Given the description of an element on the screen output the (x, y) to click on. 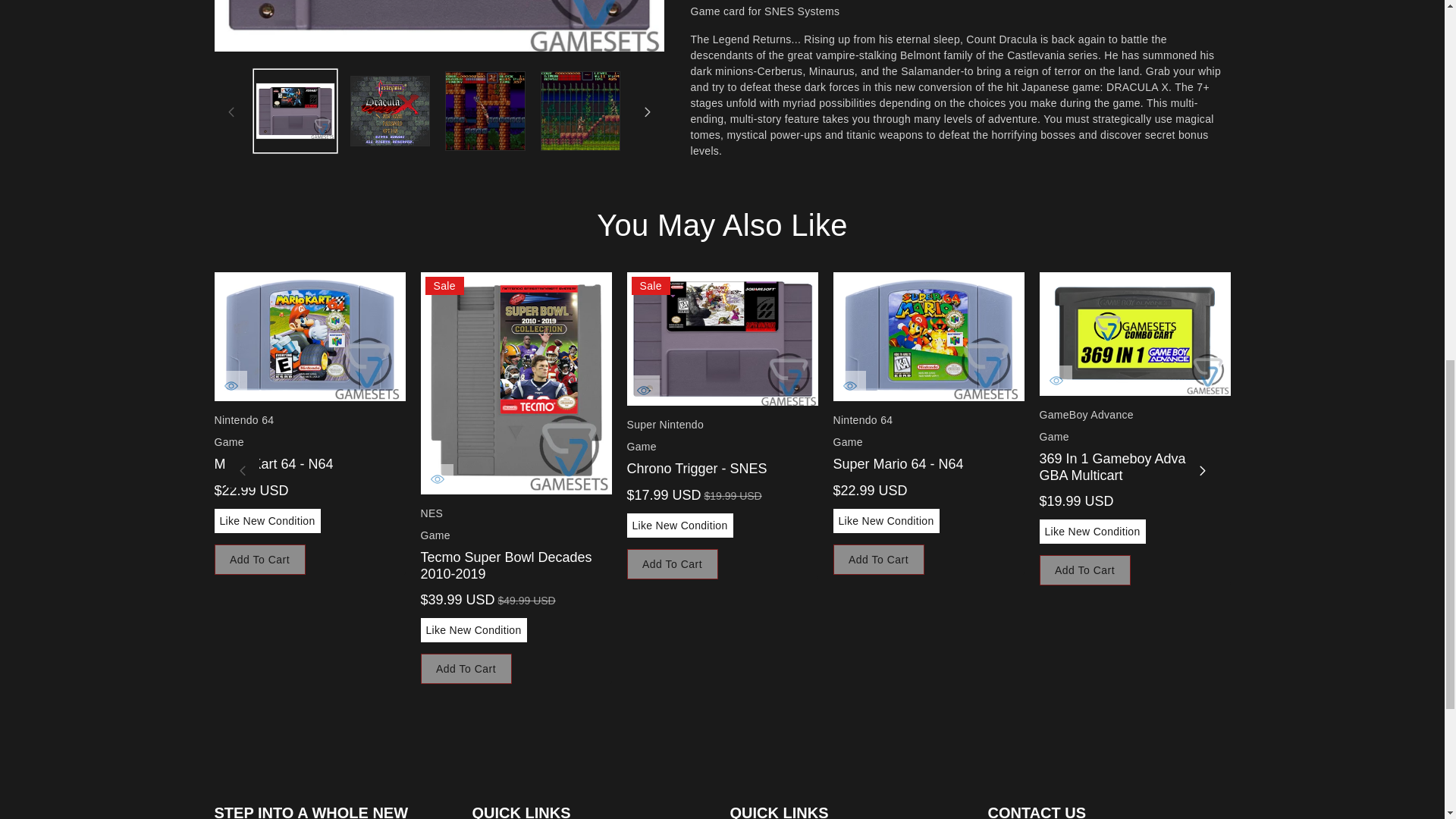
369 in 1 Gameboy Advance - GBA Multicart (1134, 333)
Chrono Trigger - SNES (721, 338)
Super Mario 64 - N64 (927, 336)
12 in 1 Mario Gameboy Advance - GBA Multicart (1339, 333)
Mario Kart 64 - N64 (309, 336)
